Given the description of an element on the screen output the (x, y) to click on. 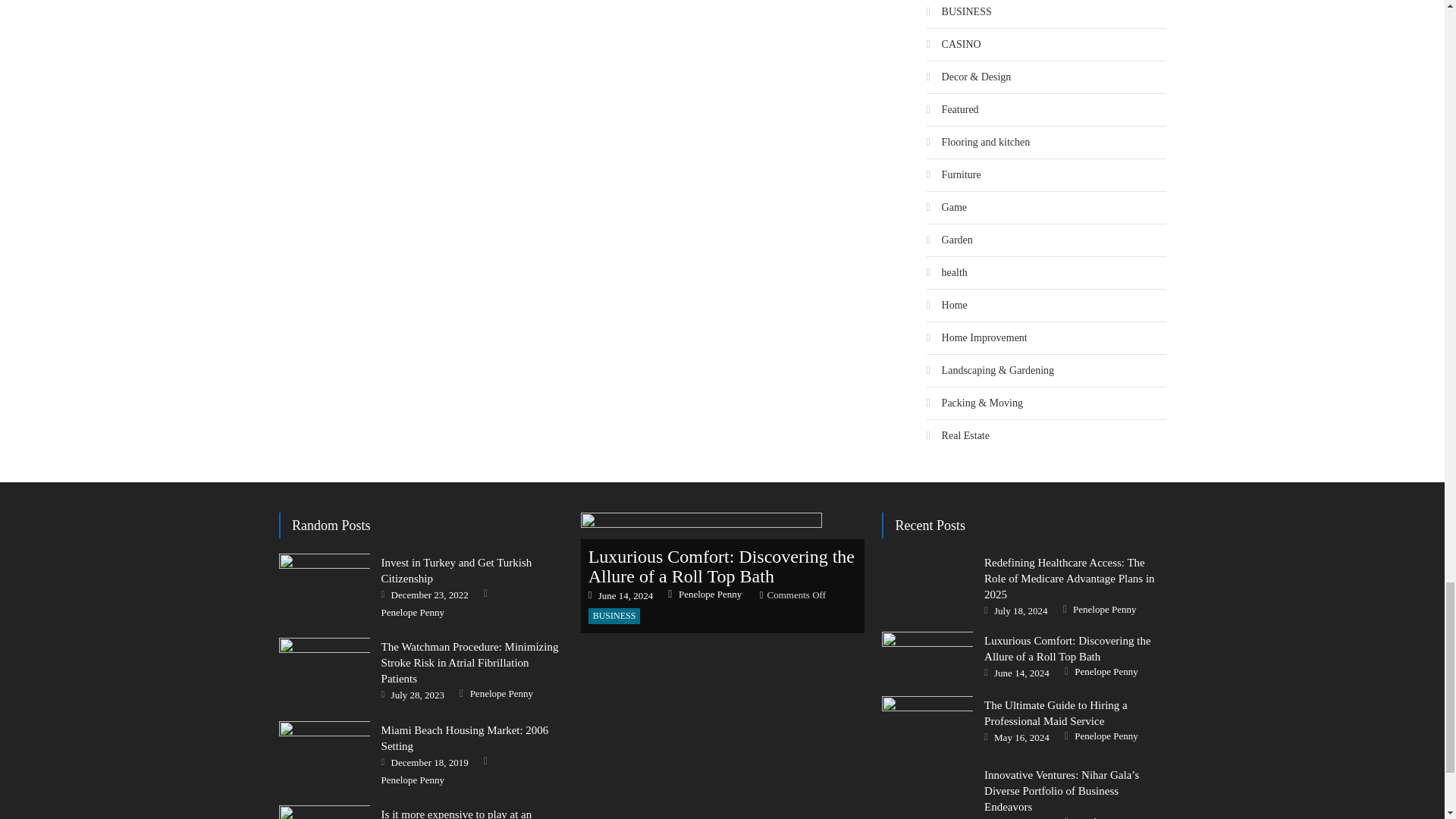
Miami Beach Housing Market: 2006 Setting (324, 753)
Luxurious Comfort: Discovering the Allure of a Roll Top Bath (927, 654)
Invest in Turkey and Get Turkish Citizenship (324, 585)
Luxurious Comfort: Discovering the Allure of a Roll Top Bath (722, 572)
The Ultimate Guide to Hiring a Professional Maid Service (927, 721)
